Given the description of an element on the screen output the (x, y) to click on. 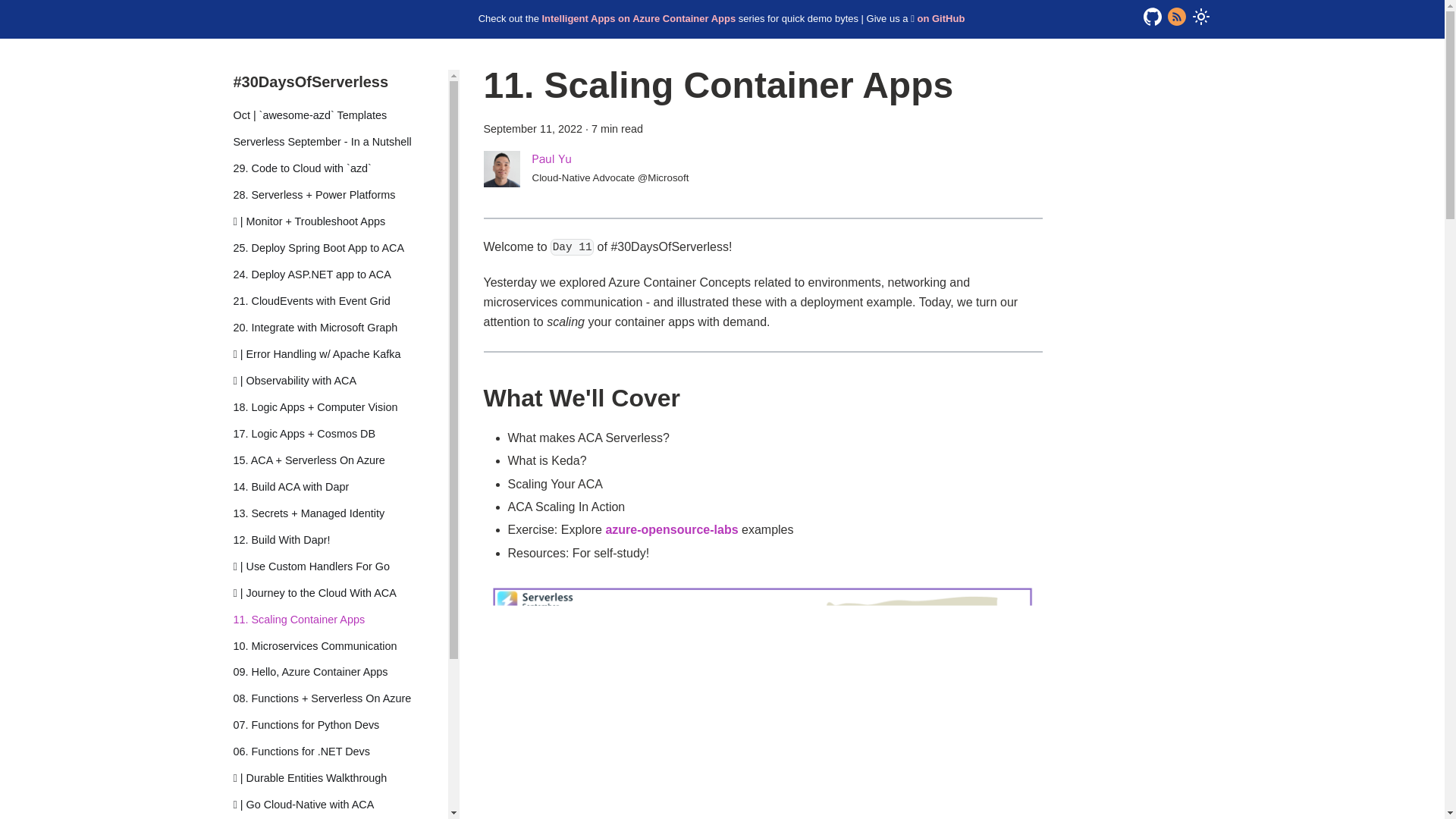
10. Microservices Communication (340, 646)
on GitHub (941, 18)
07. Functions for Python Devs (340, 725)
21. CloudEvents with Event Grid (340, 301)
14. Build ACA with Dapr (340, 486)
06. Functions for .NET Devs (340, 751)
20. Integrate with Microsoft Graph (340, 328)
12. Build With Dapr! (340, 539)
24. Deploy ASP.NET app to ACA (340, 275)
25. Deploy Spring Boot App to ACA (340, 248)
